Given the description of an element on the screen output the (x, y) to click on. 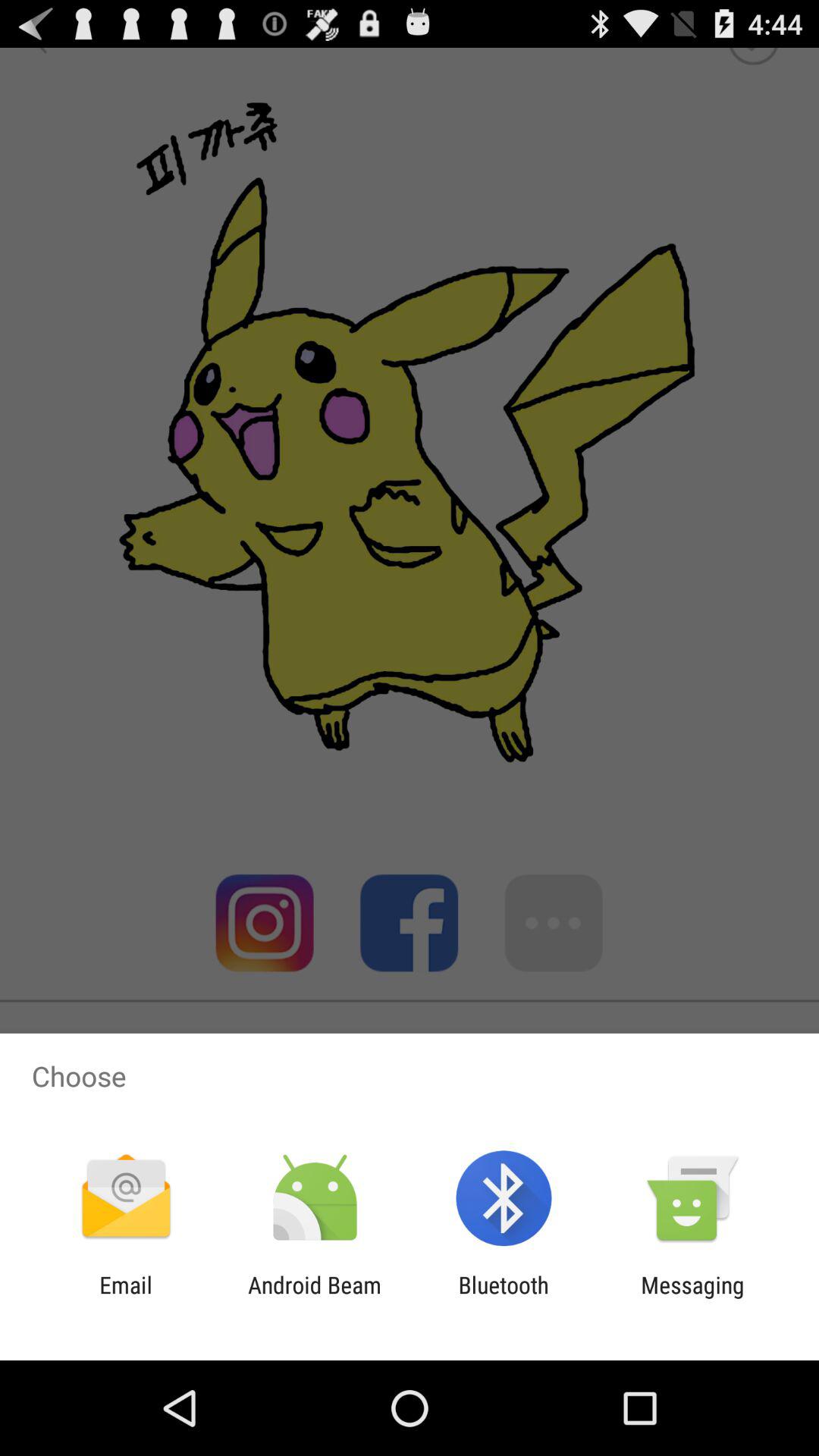
choose the icon to the right of bluetooth app (692, 1298)
